Given the description of an element on the screen output the (x, y) to click on. 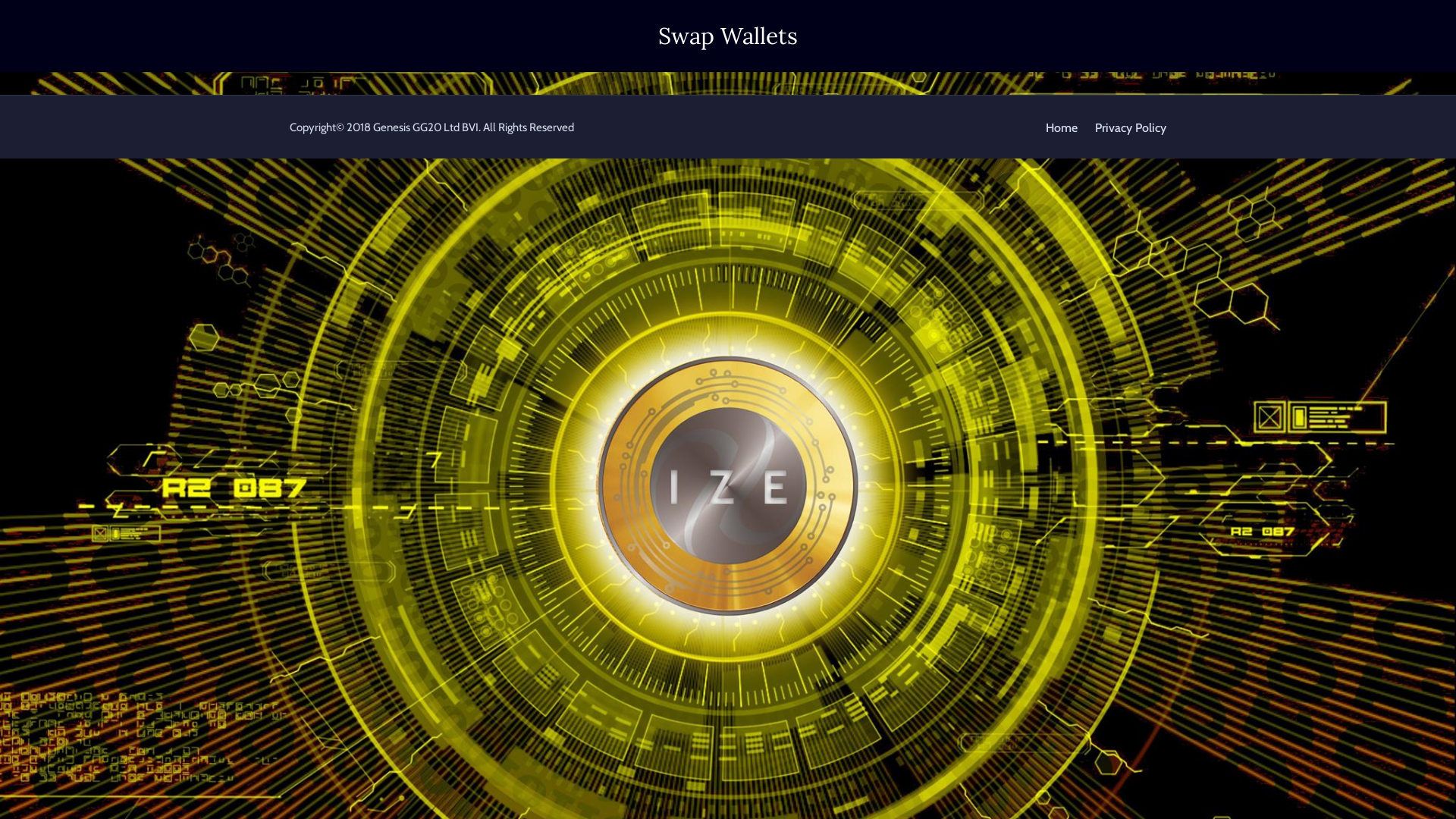
Home Element type: text (1061, 127)
Privacy Policy Element type: text (1130, 127)
